Given the description of an element on the screen output the (x, y) to click on. 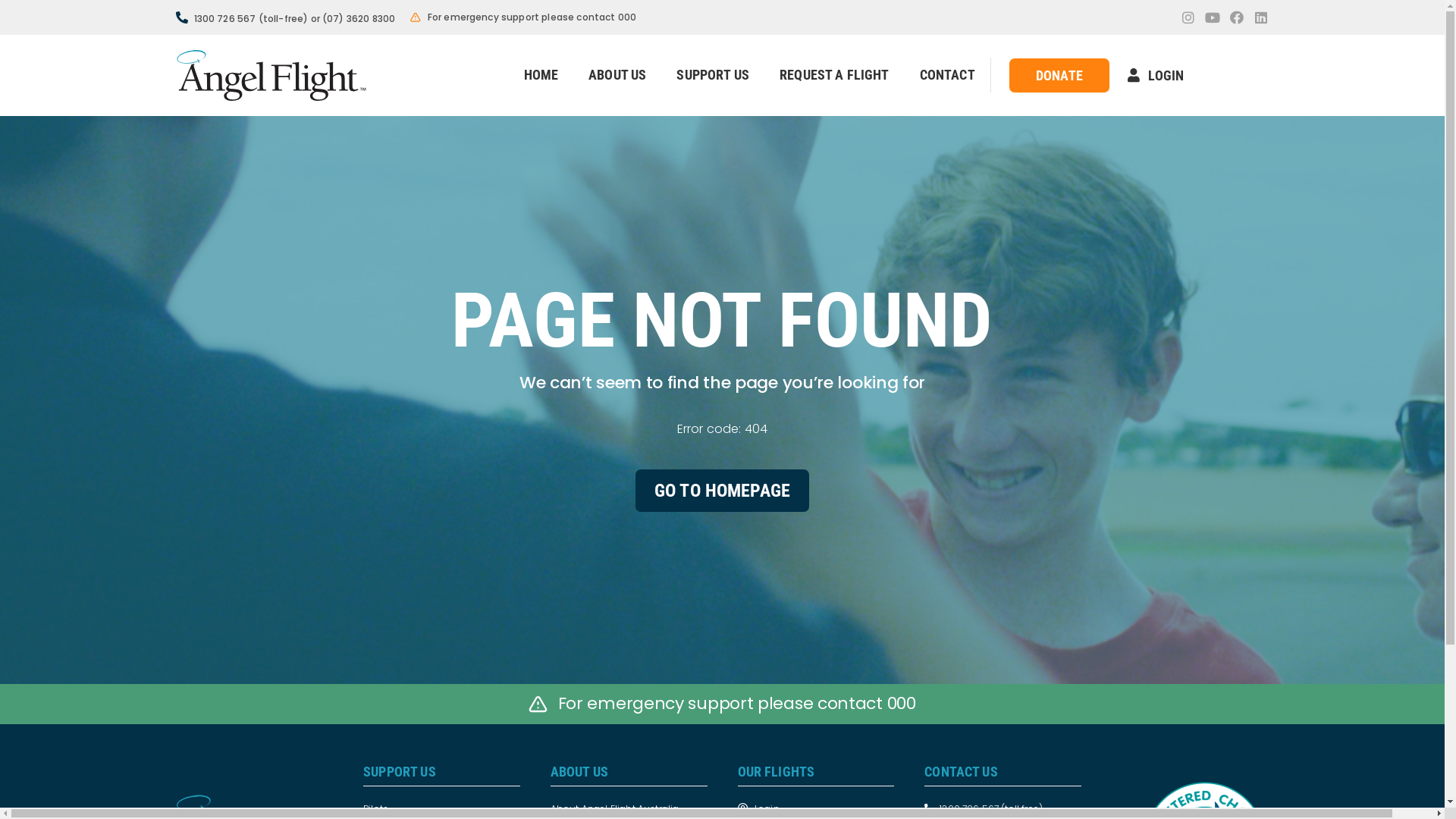
GO TO HOMEPAGE Element type: text (722, 490)
About Angel Flight Australia Element type: text (628, 807)
CONTACT Element type: text (947, 74)
ABOUT US Element type: text (617, 74)
1300 726 567 (toll free) Element type: text (1002, 807)
LOGIN Element type: text (1155, 75)
SUPPORT US Element type: text (712, 74)
Pilots Element type: text (441, 807)
REQUEST A FLIGHT Element type: text (834, 74)
Login Element type: text (815, 807)
HOME Element type: text (540, 74)
DONATE Element type: text (1059, 75)
